Given the description of an element on the screen output the (x, y) to click on. 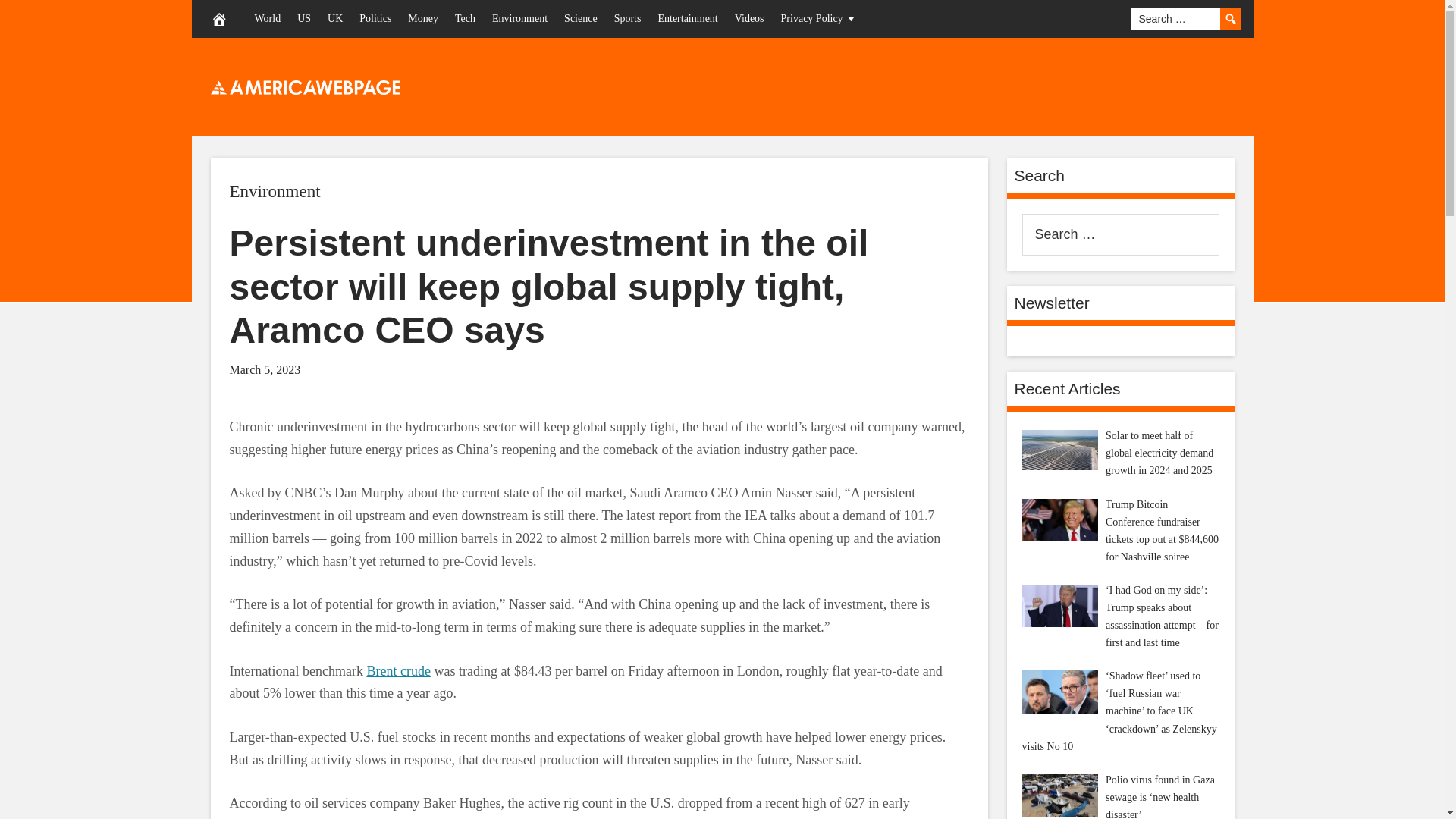
Videos (749, 18)
Environment (274, 190)
Privacy Policy (819, 18)
Environment (274, 190)
Tech (464, 18)
World (267, 18)
Politics (374, 18)
Entertainment (687, 18)
Environment (519, 18)
Money (422, 18)
Science (580, 18)
Sports (627, 18)
